Given the description of an element on the screen output the (x, y) to click on. 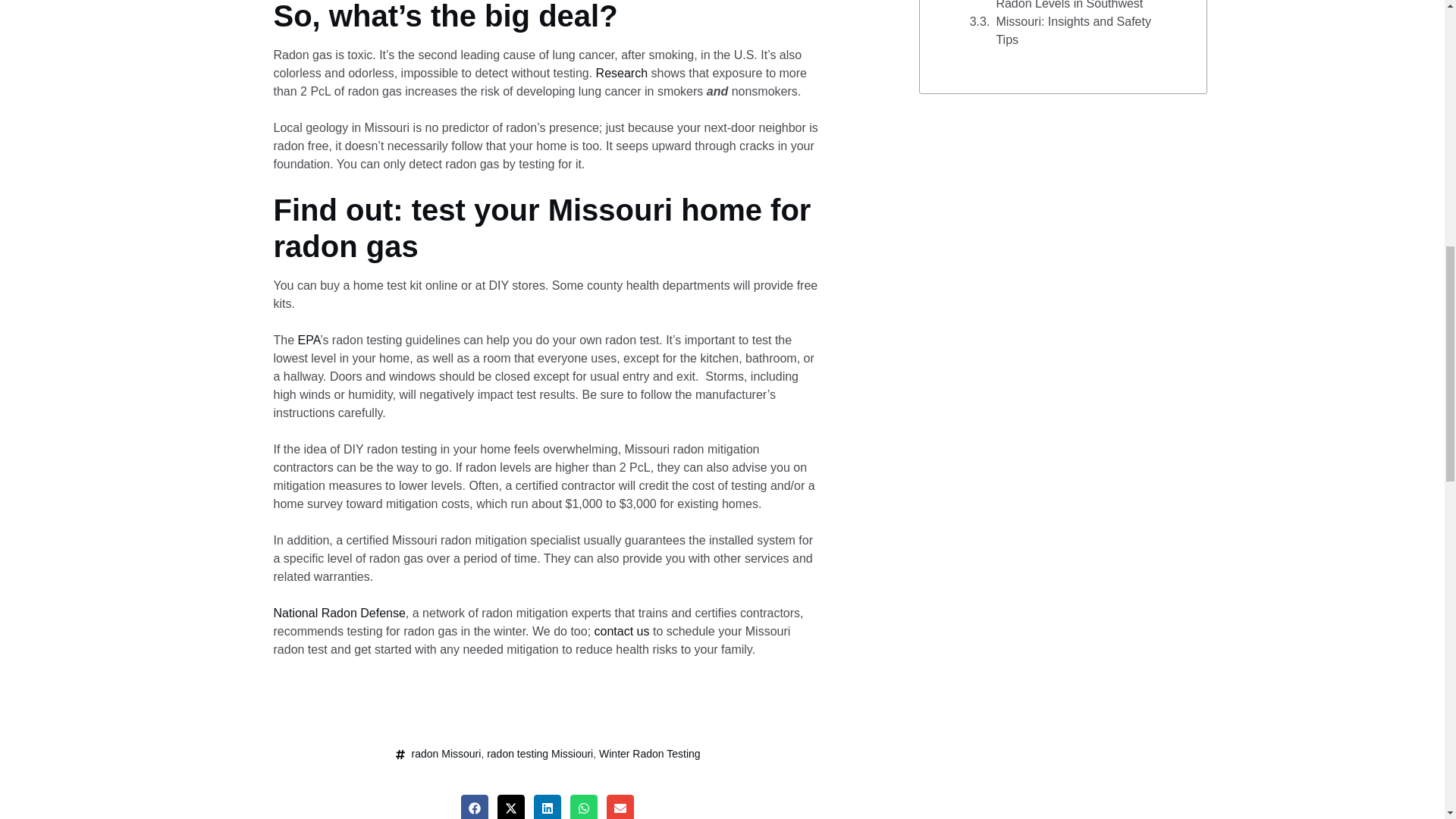
radon Missouri (446, 753)
Winter Radon Testing (649, 753)
Research (621, 72)
EPA (309, 339)
radon testing Missiouri (539, 753)
contact us (621, 631)
National Radon Defense (338, 612)
Radon Levels in Southwest Missouri: Insights and Safety Tips (1082, 24)
